Given the description of an element on the screen output the (x, y) to click on. 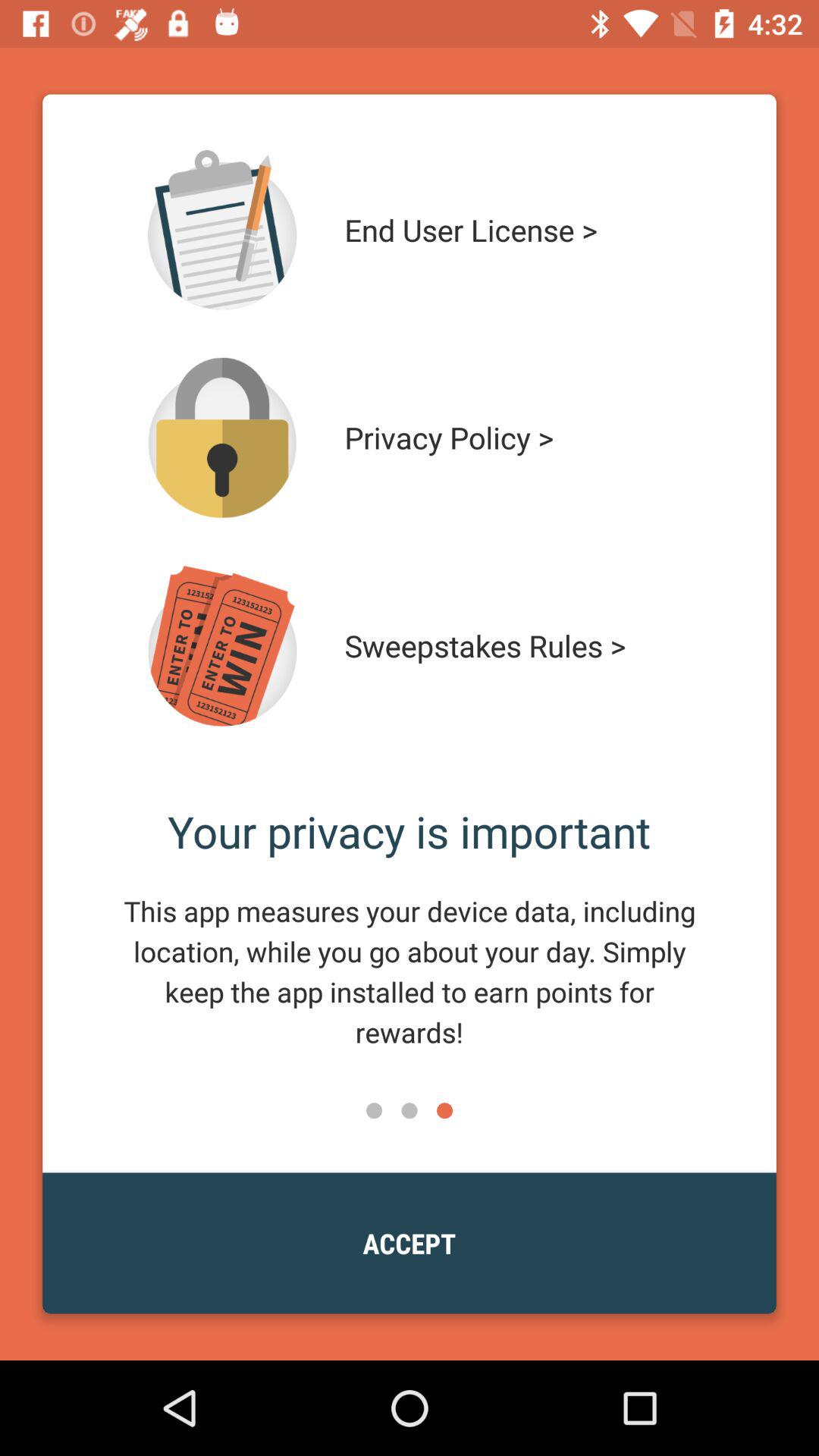
see rules (222, 645)
